Given the description of an element on the screen output the (x, y) to click on. 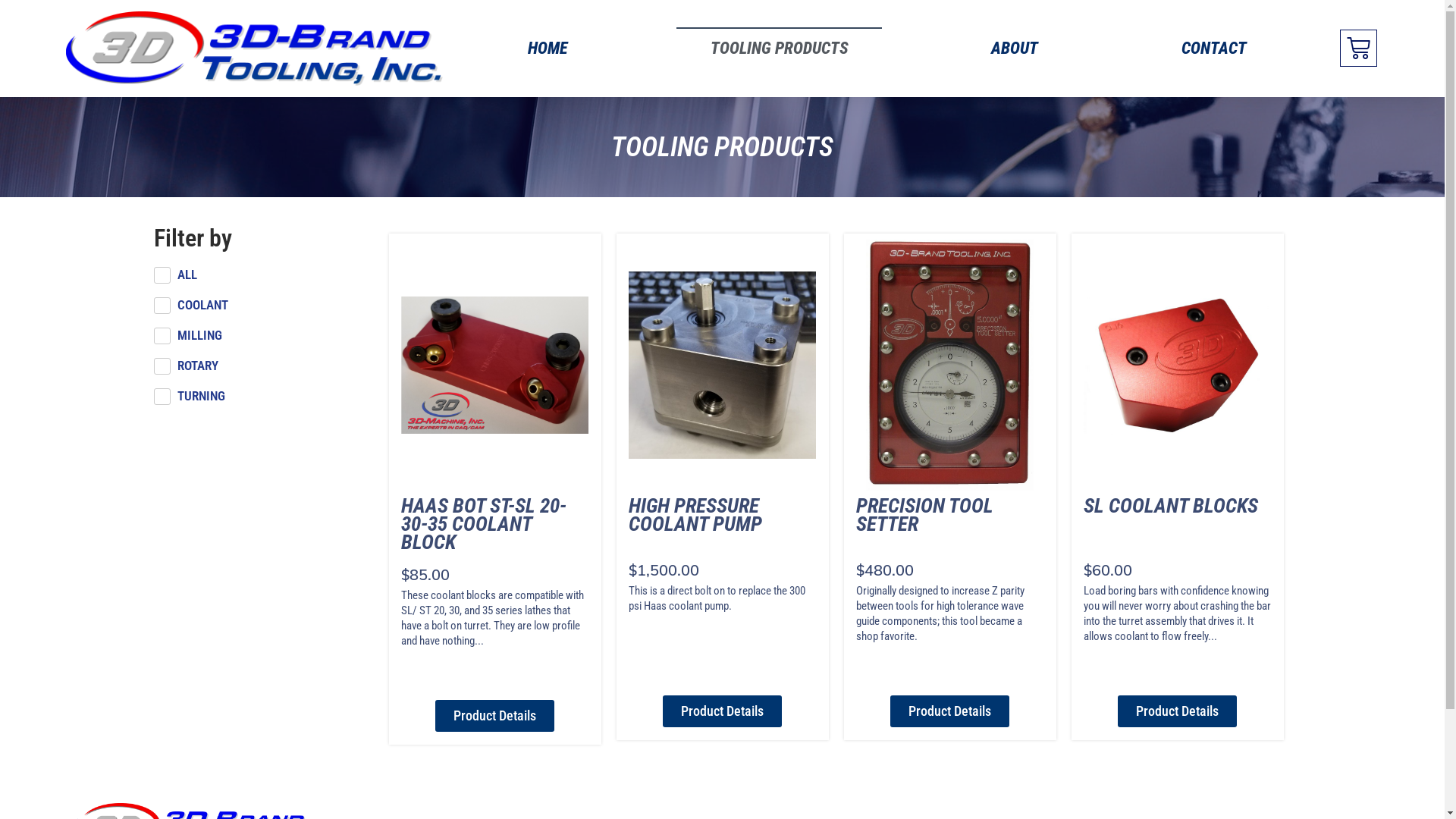
Product Details Element type: text (949, 711)
HOME Element type: text (547, 48)
Product Details Element type: text (494, 715)
Product Details Element type: text (721, 711)
Product Details Element type: text (1176, 711)
CONTACT Element type: text (1214, 48)
TOOLING PRODUCTS Element type: text (778, 48)
ABOUT Element type: text (1014, 48)
